Given the description of an element on the screen output the (x, y) to click on. 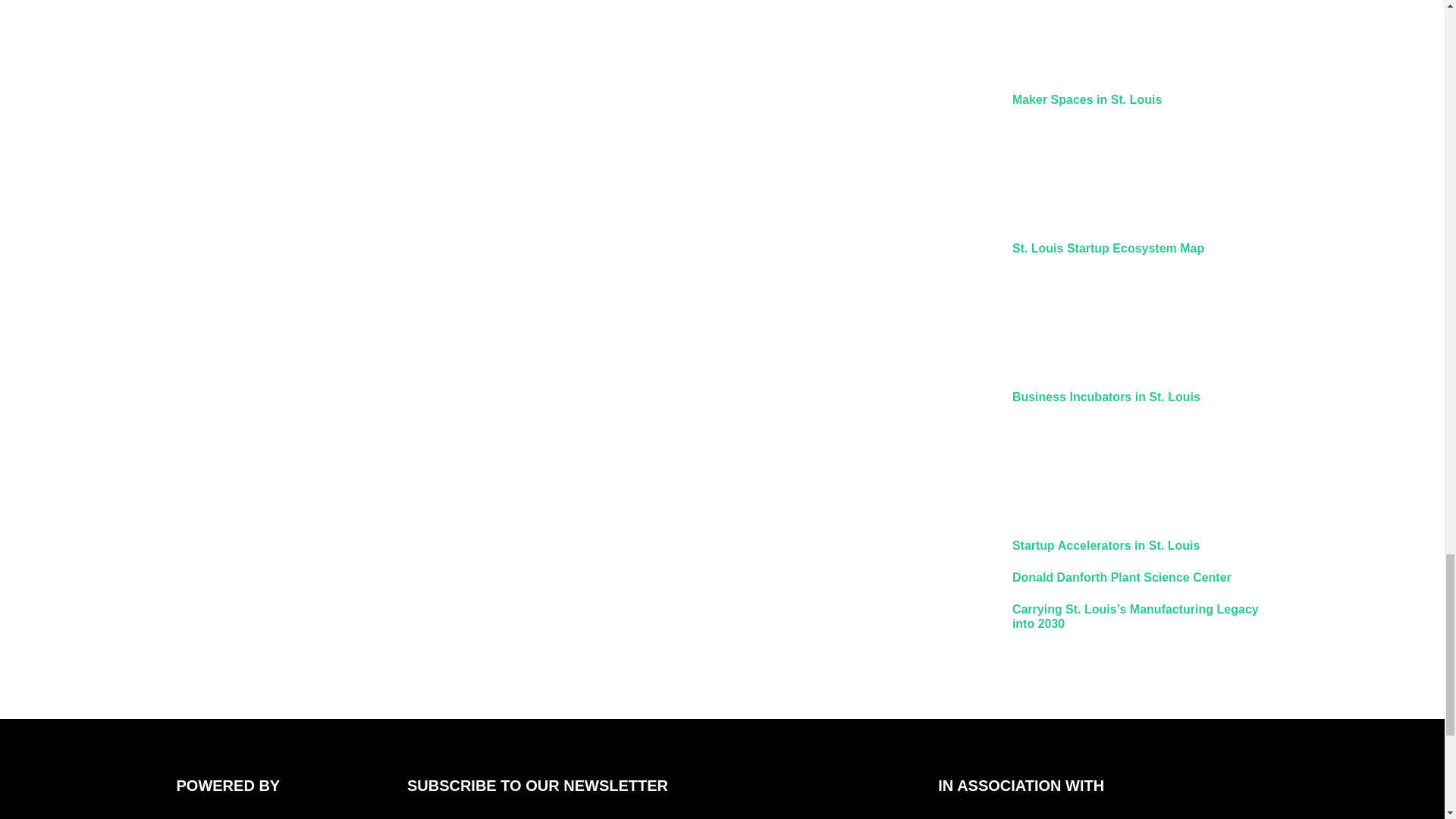
In association with: (1031, 811)
Powered by: (271, 811)
